Given the description of an element on the screen output the (x, y) to click on. 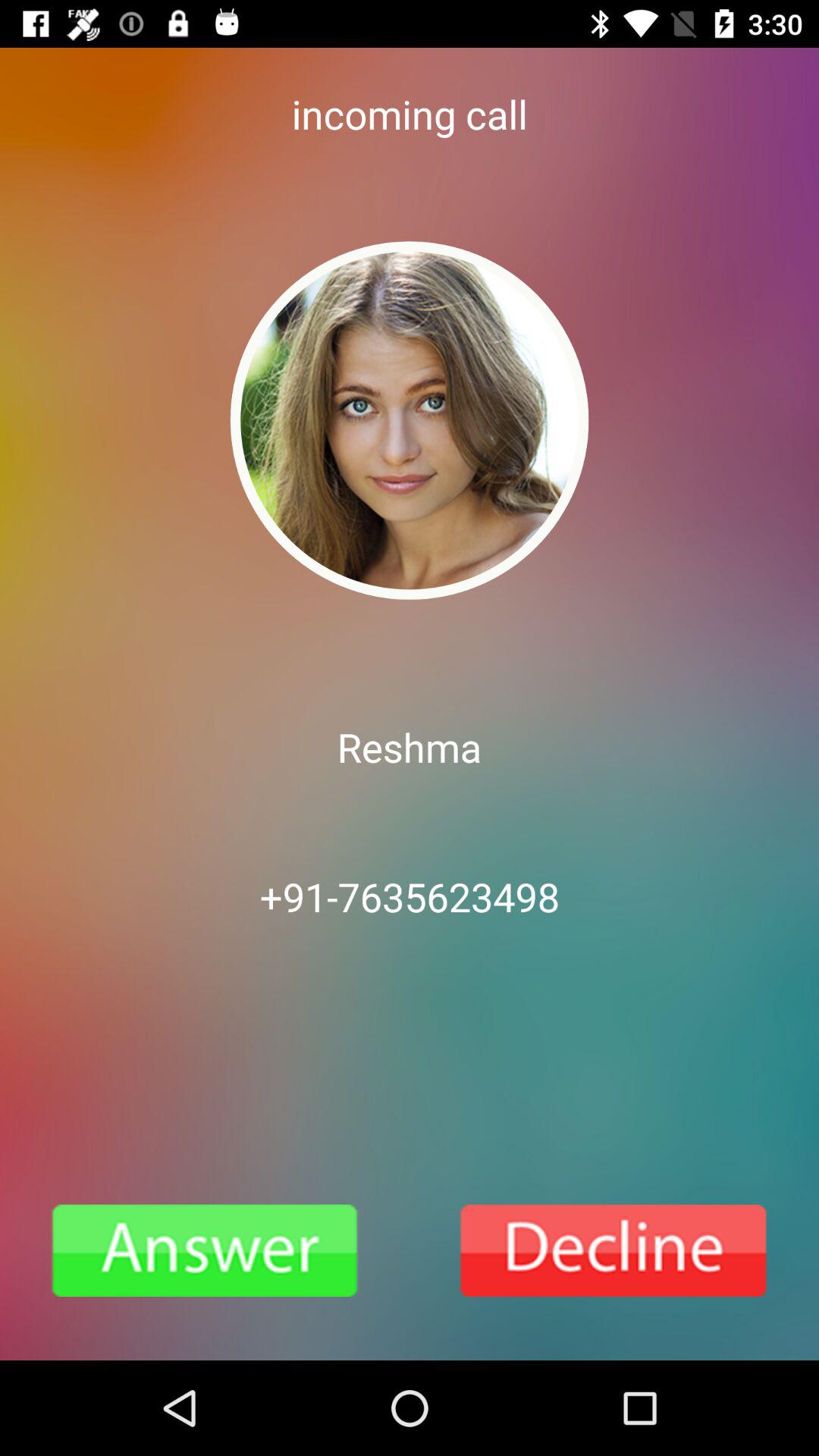
call is going to end (614, 1250)
